Given the description of an element on the screen output the (x, y) to click on. 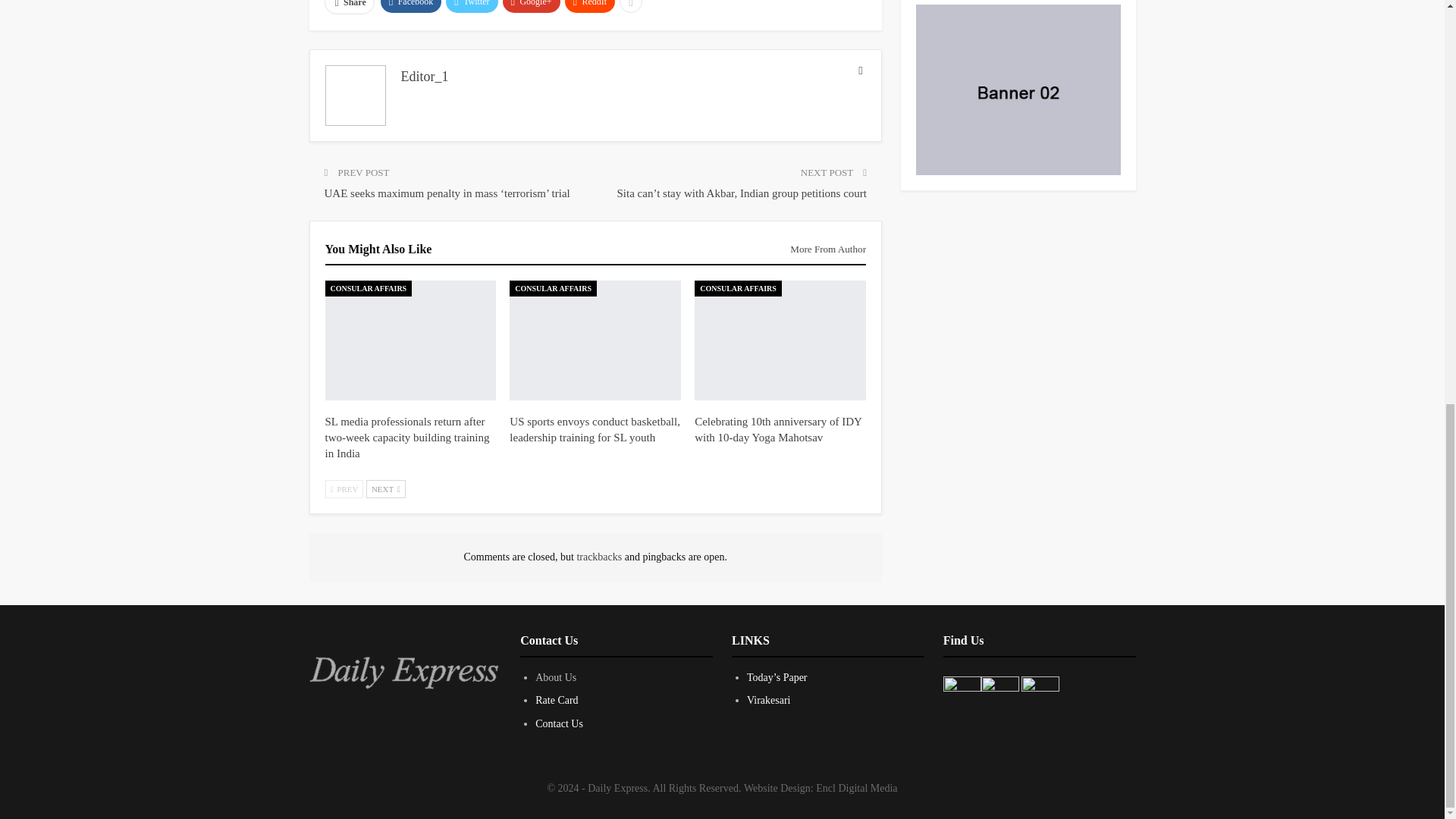
Next (386, 488)
Facebook (411, 6)
Previous (343, 488)
